Given the description of an element on the screen output the (x, y) to click on. 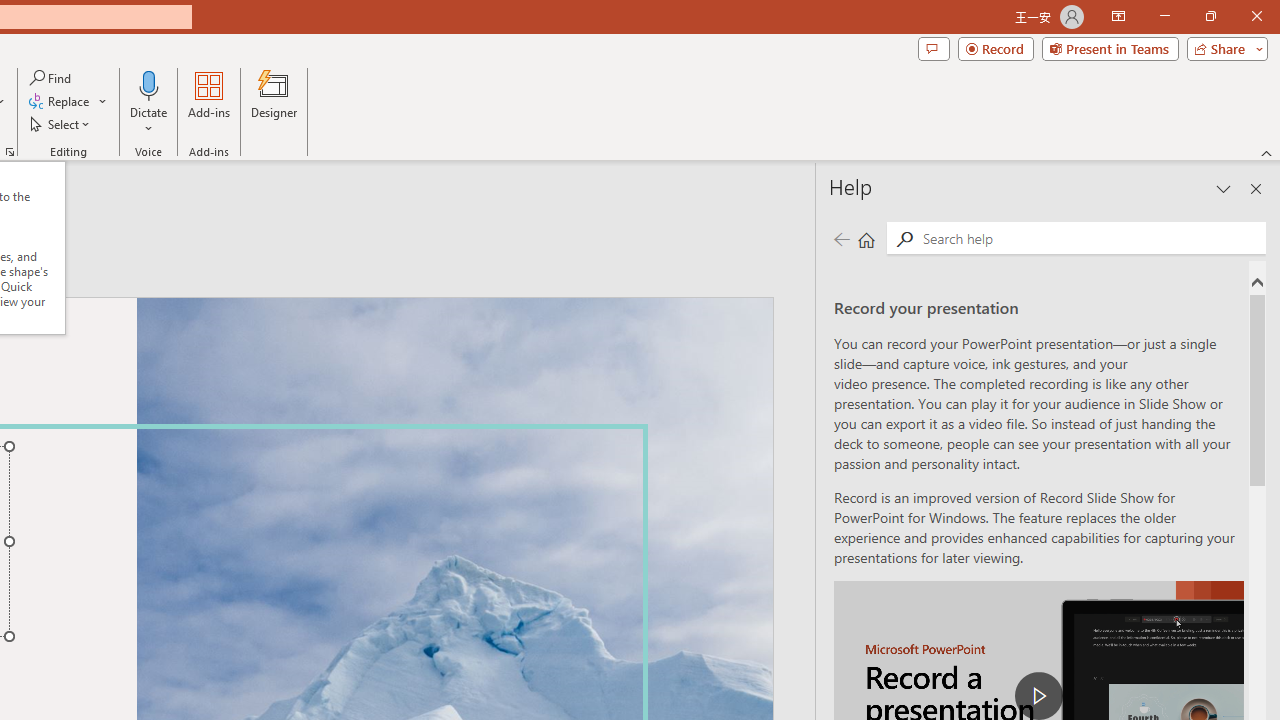
Select (61, 124)
Format Object... (9, 151)
play Record a Presentation (1038, 695)
